Given the description of an element on the screen output the (x, y) to click on. 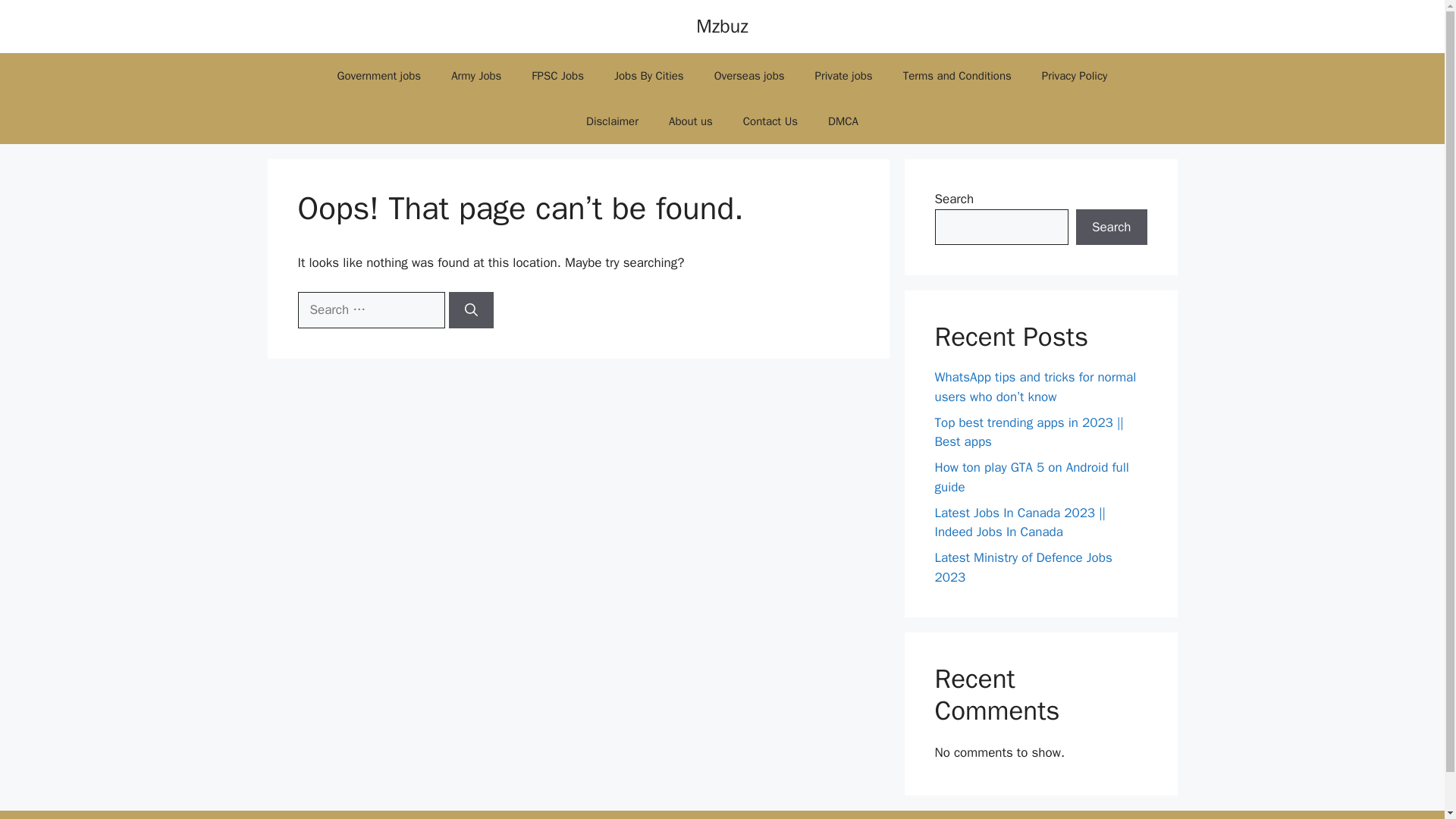
DMCA (842, 121)
Search for: (370, 309)
Privacy Policy (1074, 75)
Private jobs (843, 75)
Jobs By Cities (648, 75)
Overseas jobs (748, 75)
FPSC Jobs (557, 75)
Mzbuz (721, 25)
About us (690, 121)
Contact Us (770, 121)
Government jobs (378, 75)
Army Jobs (475, 75)
Terms and Conditions (957, 75)
Disclaimer (611, 121)
Search (1111, 227)
